Given the description of an element on the screen output the (x, y) to click on. 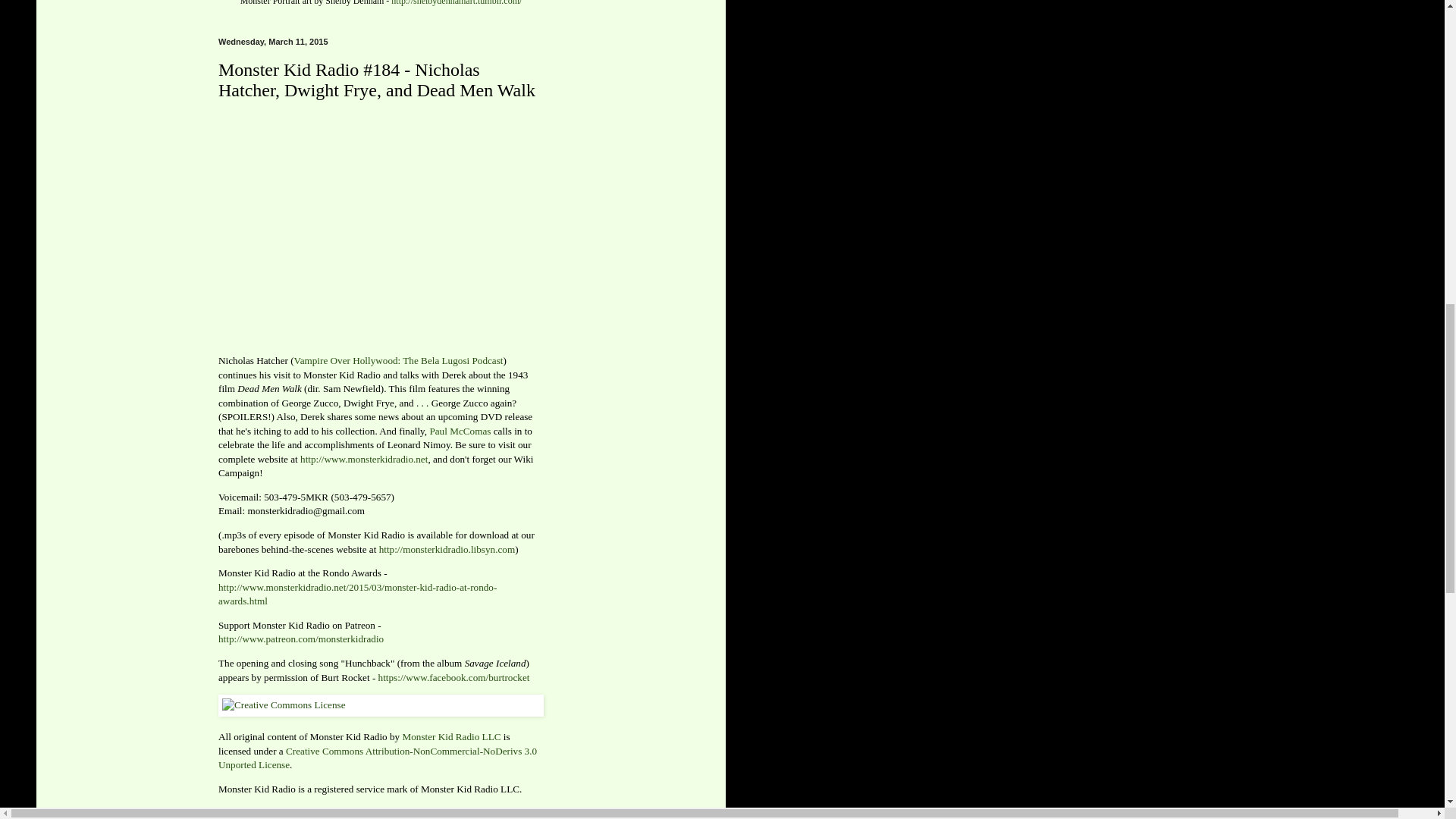
Vampire Over Hollywood: The Bela Lugosi Podcast (398, 360)
Monster Kid Radio LLC (450, 736)
Paul McComas (459, 430)
